Given the description of an element on the screen output the (x, y) to click on. 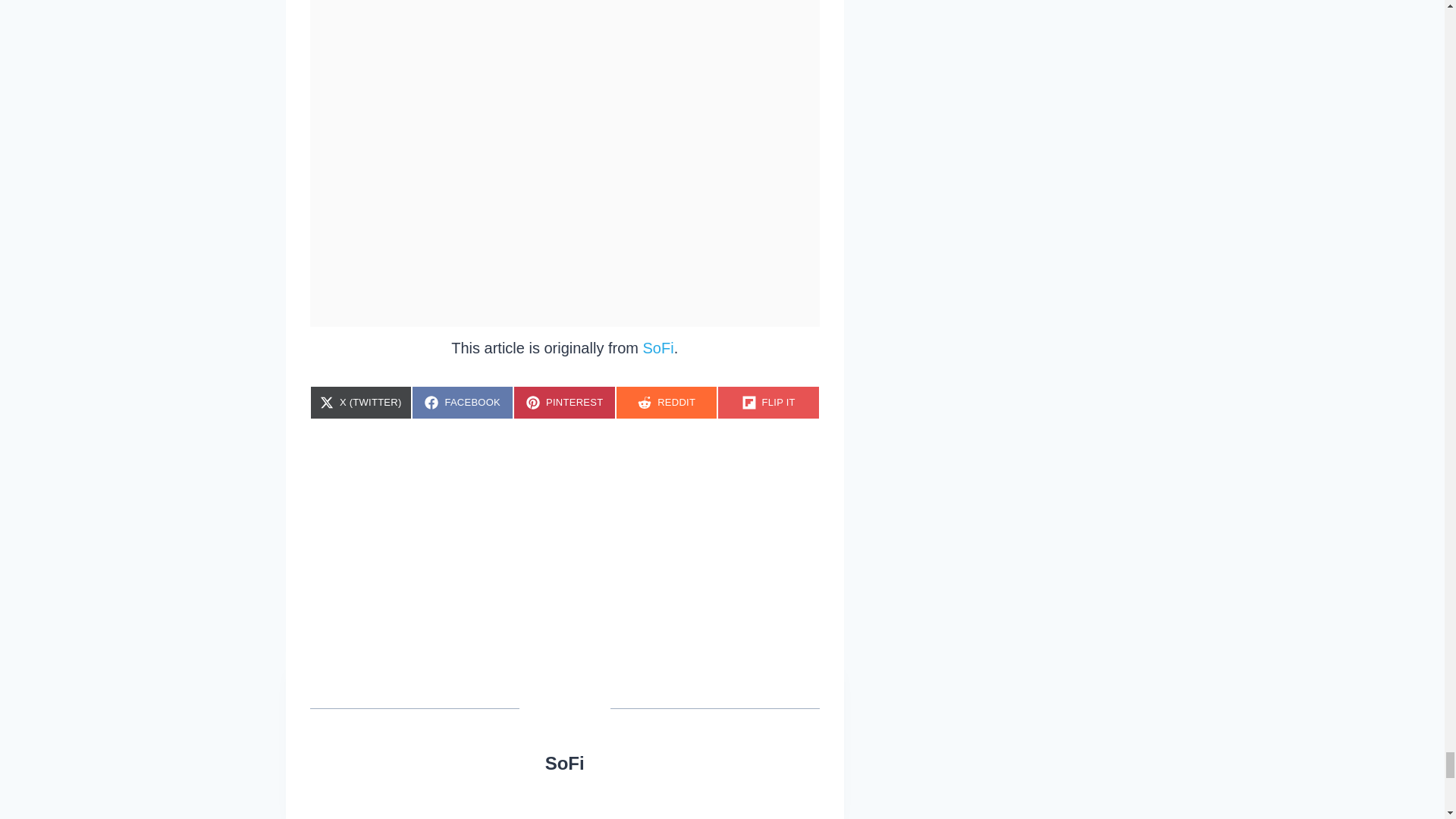
Posts by SoFi (462, 402)
SoFi (666, 402)
SoFi (564, 762)
